Given the description of an element on the screen output the (x, y) to click on. 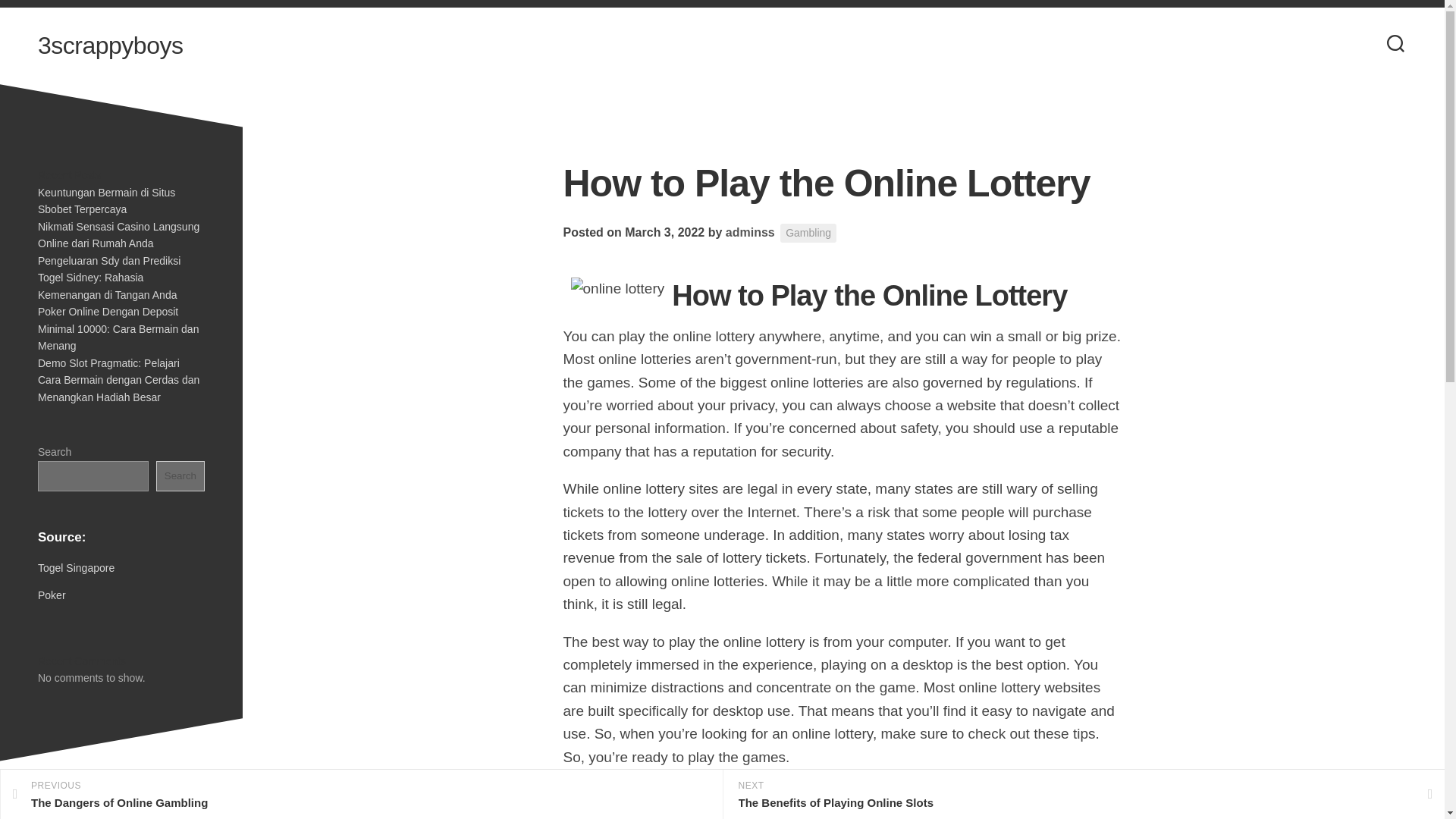
Keuntungan Bermain di Situs Sbobet Terpercaya (105, 201)
Nikmati Sensasi Casino Langsung Online dari Rumah Anda (118, 234)
Togel Singapore (76, 567)
Gambling (807, 232)
Posts by adminss (749, 232)
Poker (51, 594)
Search (180, 476)
adminss (361, 794)
